Given the description of an element on the screen output the (x, y) to click on. 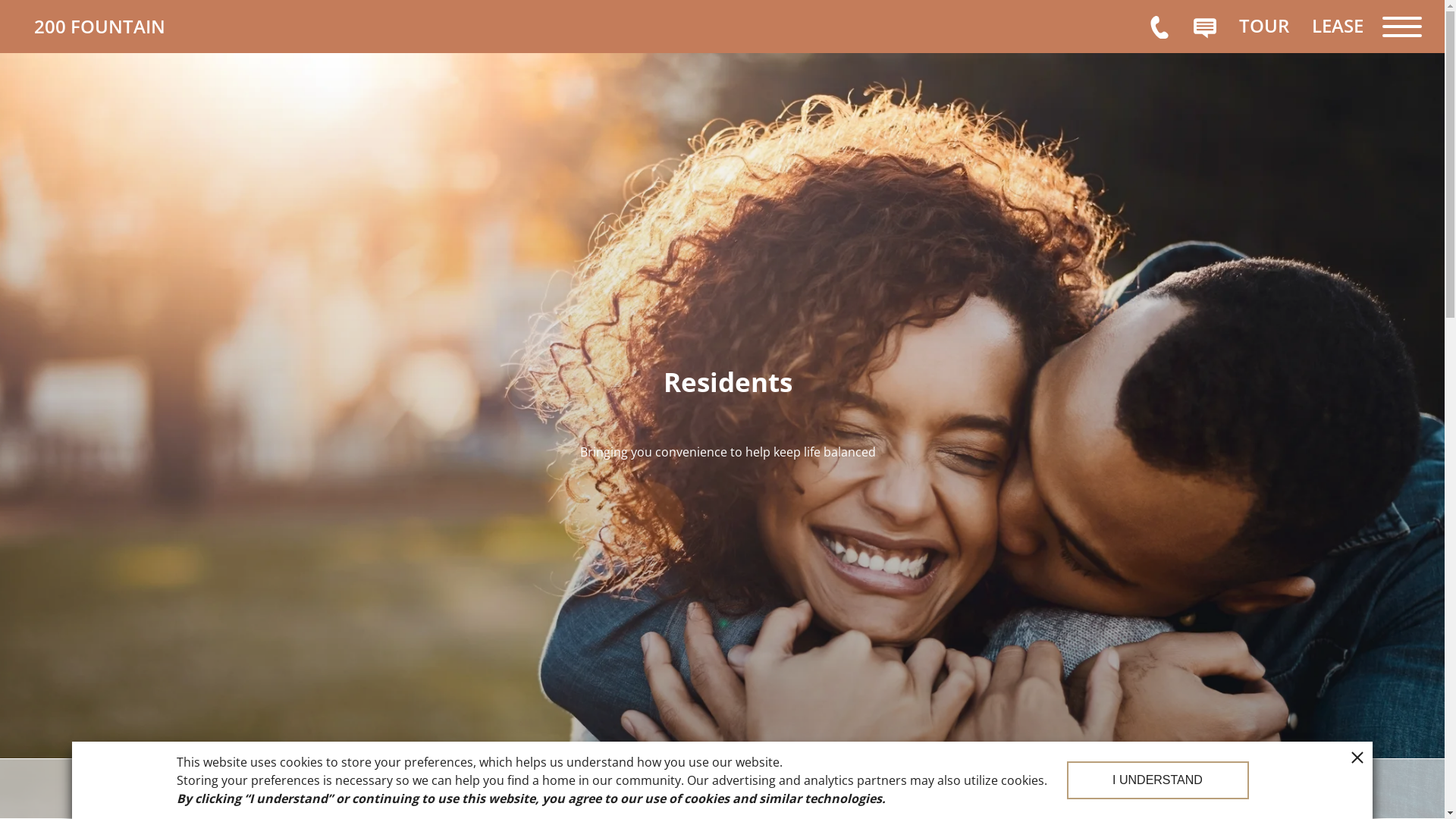
TOUR Element type: text (1264, 24)
Submit Element type: text (598, 18)
I UNDERSTAND Element type: text (1157, 780)
Submit Element type: text (721, 18)
200 FOUNTAIN Element type: text (147, 26)
LEASE Element type: text (1337, 24)
